Given the description of an element on the screen output the (x, y) to click on. 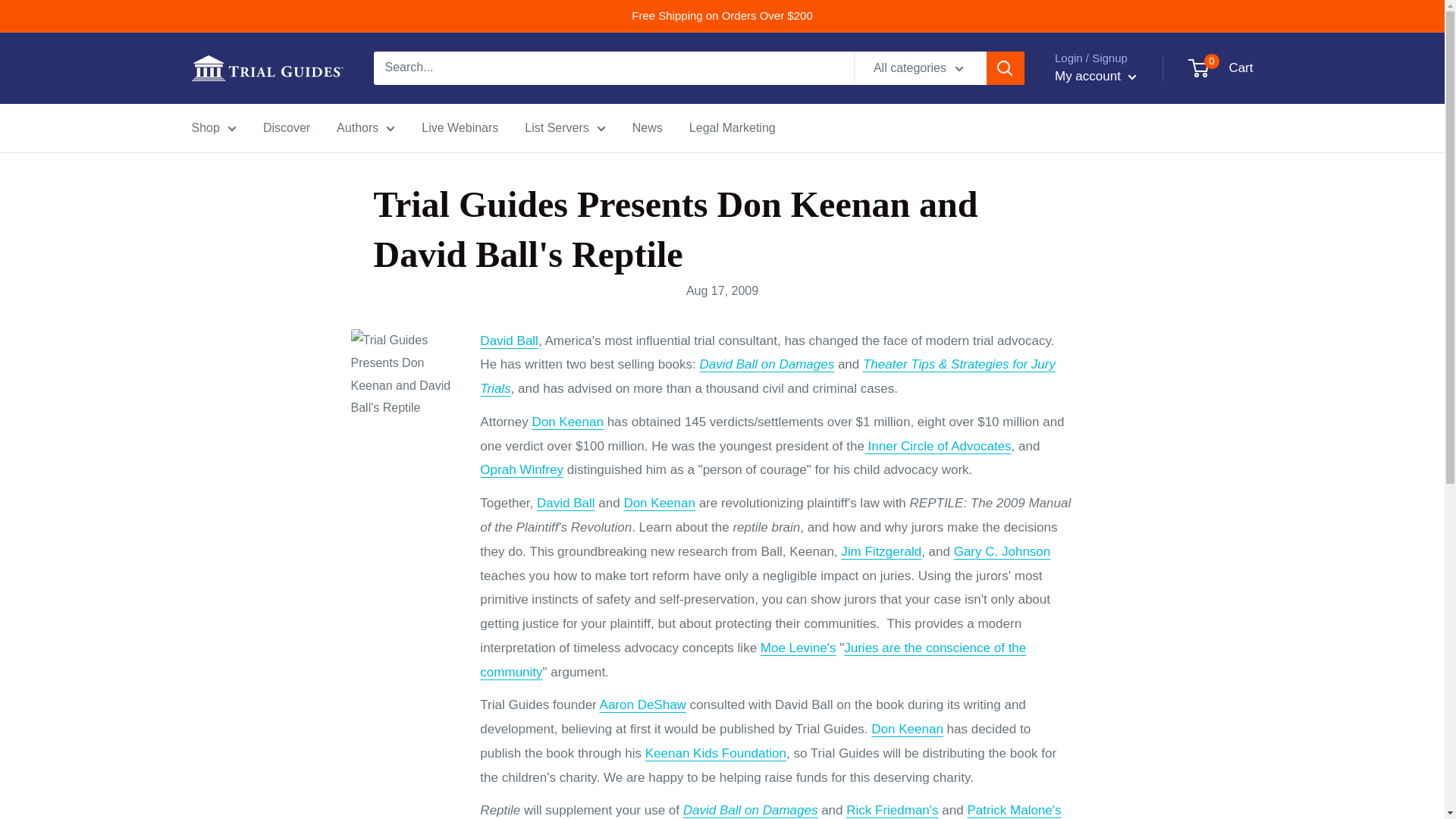
Theater Tips and Strategies for Jury Trials (767, 376)
Trial Guides (266, 68)
Jim Fitzgerald trial lawyer Reptile (881, 551)
David Ball on Damages (767, 364)
Oprah Winfrey (521, 469)
David Ball on Damages (750, 810)
Don Keenan Reptile (567, 421)
Gary Johnson (1002, 551)
Moe Levine trial lawyer (797, 647)
Moe Levine Juries are the conscience of the community (753, 659)
